Given the description of an element on the screen output the (x, y) to click on. 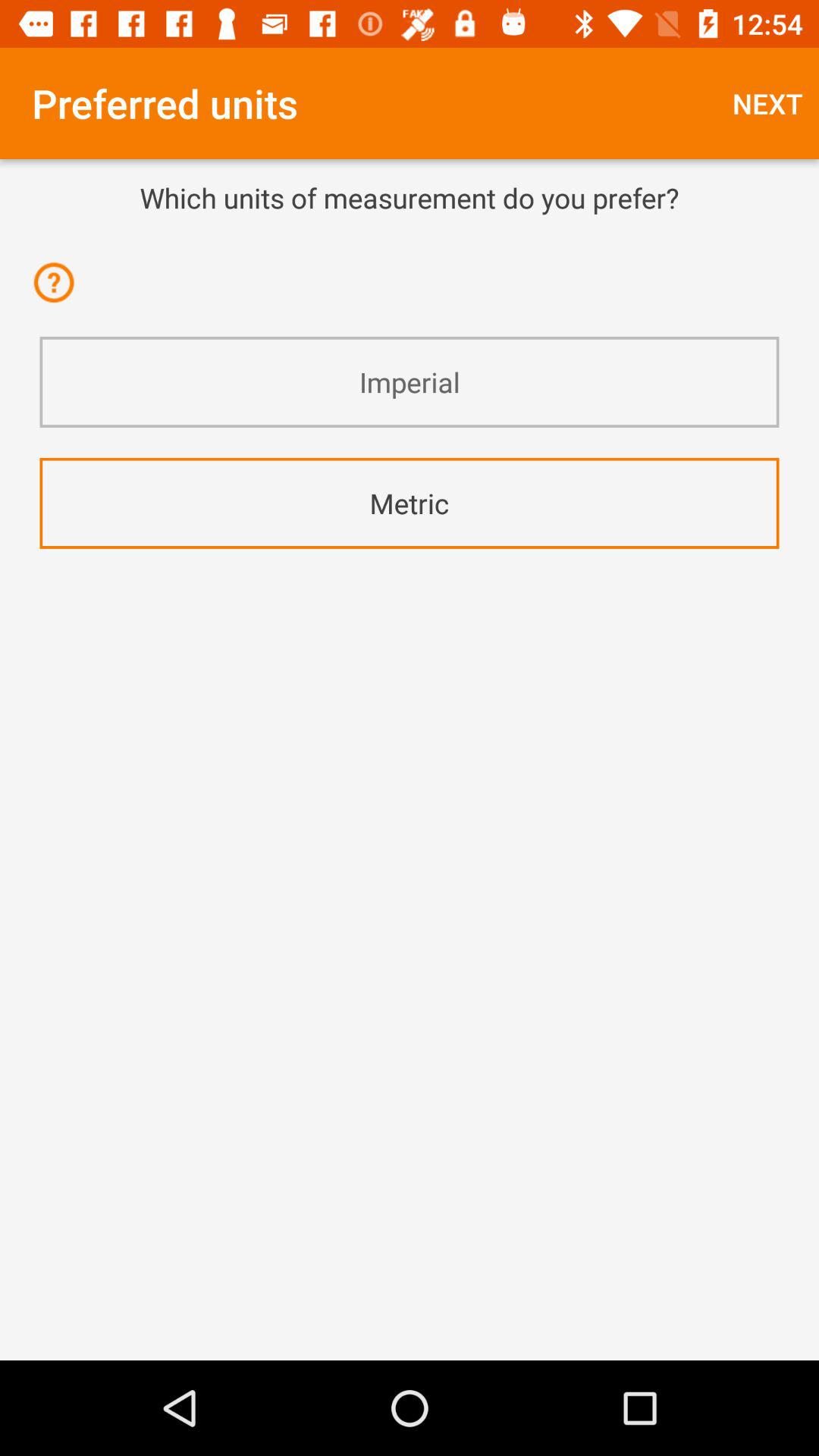
tap item next to preferred units (767, 103)
